Given the description of an element on the screen output the (x, y) to click on. 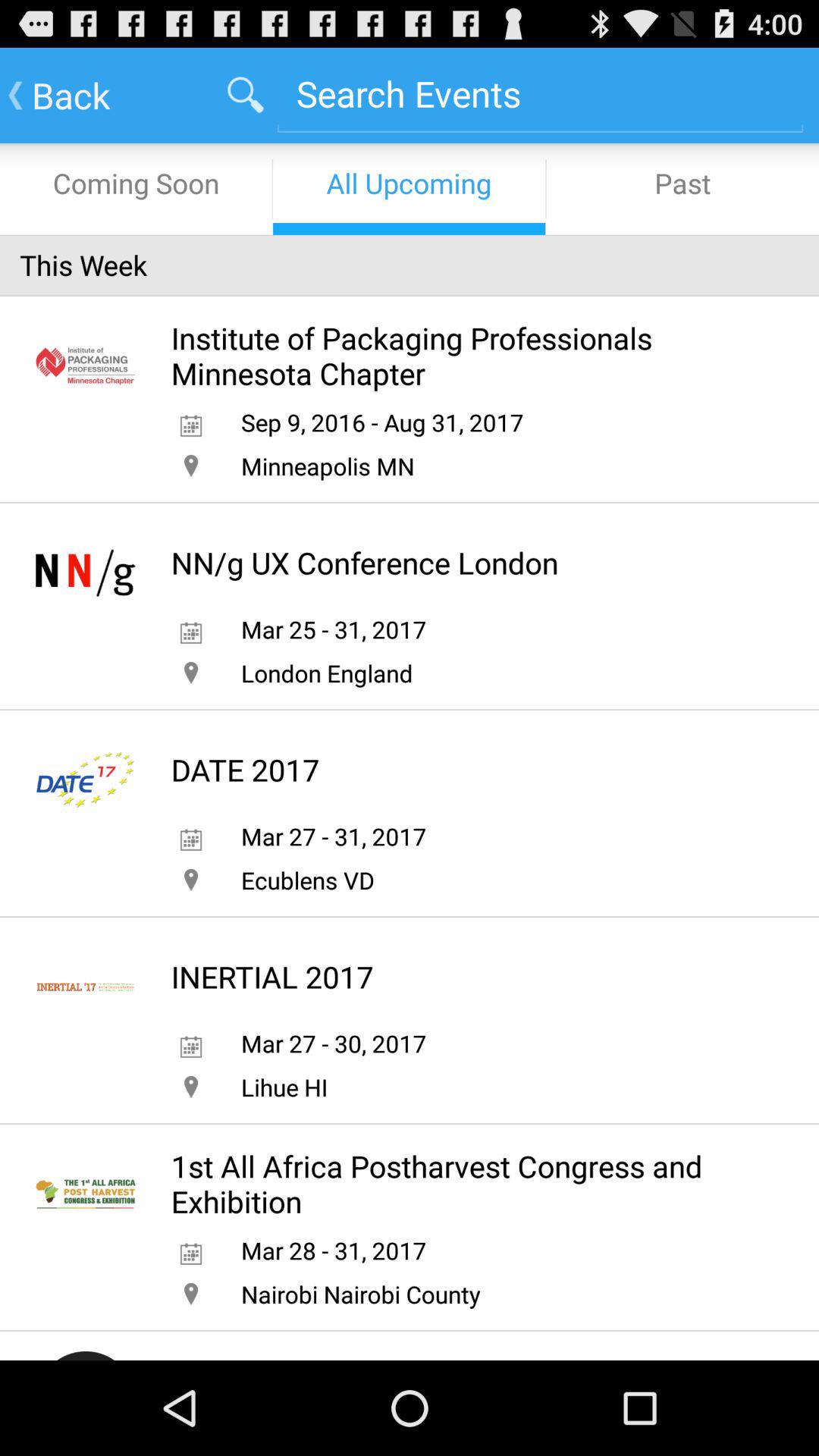
tap lihue hi (284, 1086)
